Given the description of an element on the screen output the (x, y) to click on. 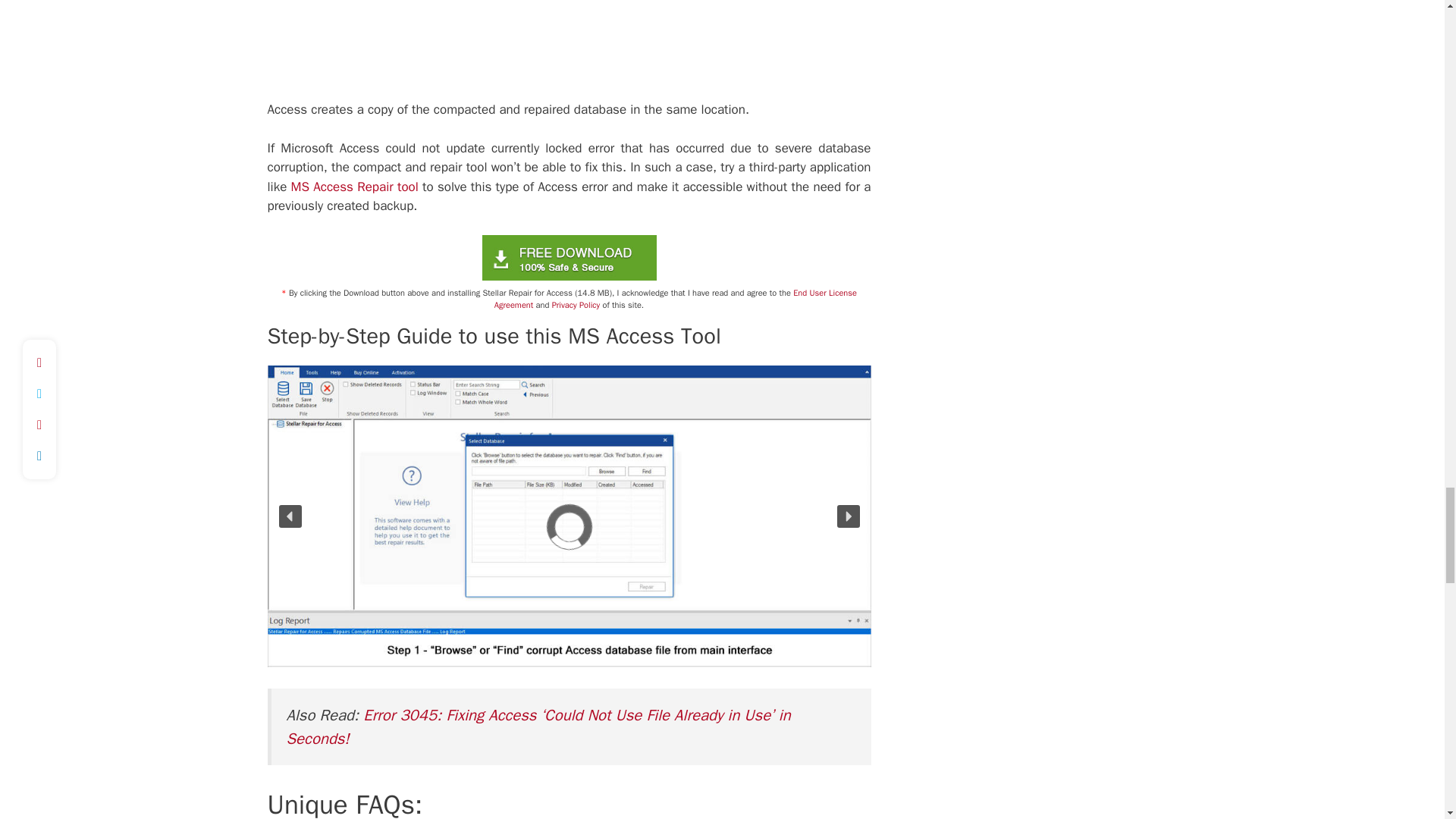
End User License Agreement (676, 299)
MS Access Repair tool (351, 186)
Privacy Policy (575, 304)
